Given the description of an element on the screen output the (x, y) to click on. 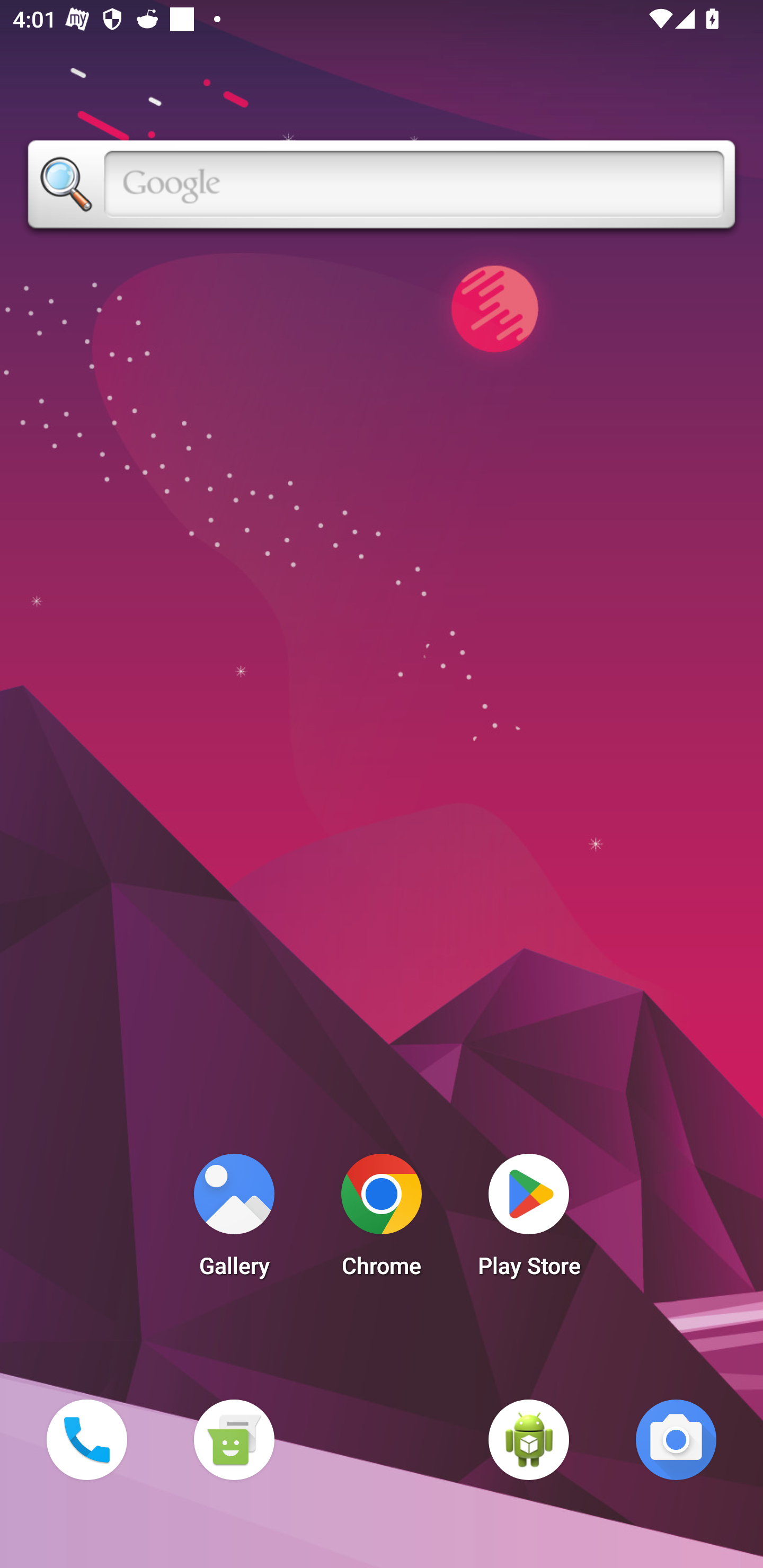
Gallery (233, 1220)
Chrome (381, 1220)
Play Store (528, 1220)
Phone (86, 1439)
Messaging (233, 1439)
WebView Browser Tester (528, 1439)
Camera (676, 1439)
